Given the description of an element on the screen output the (x, y) to click on. 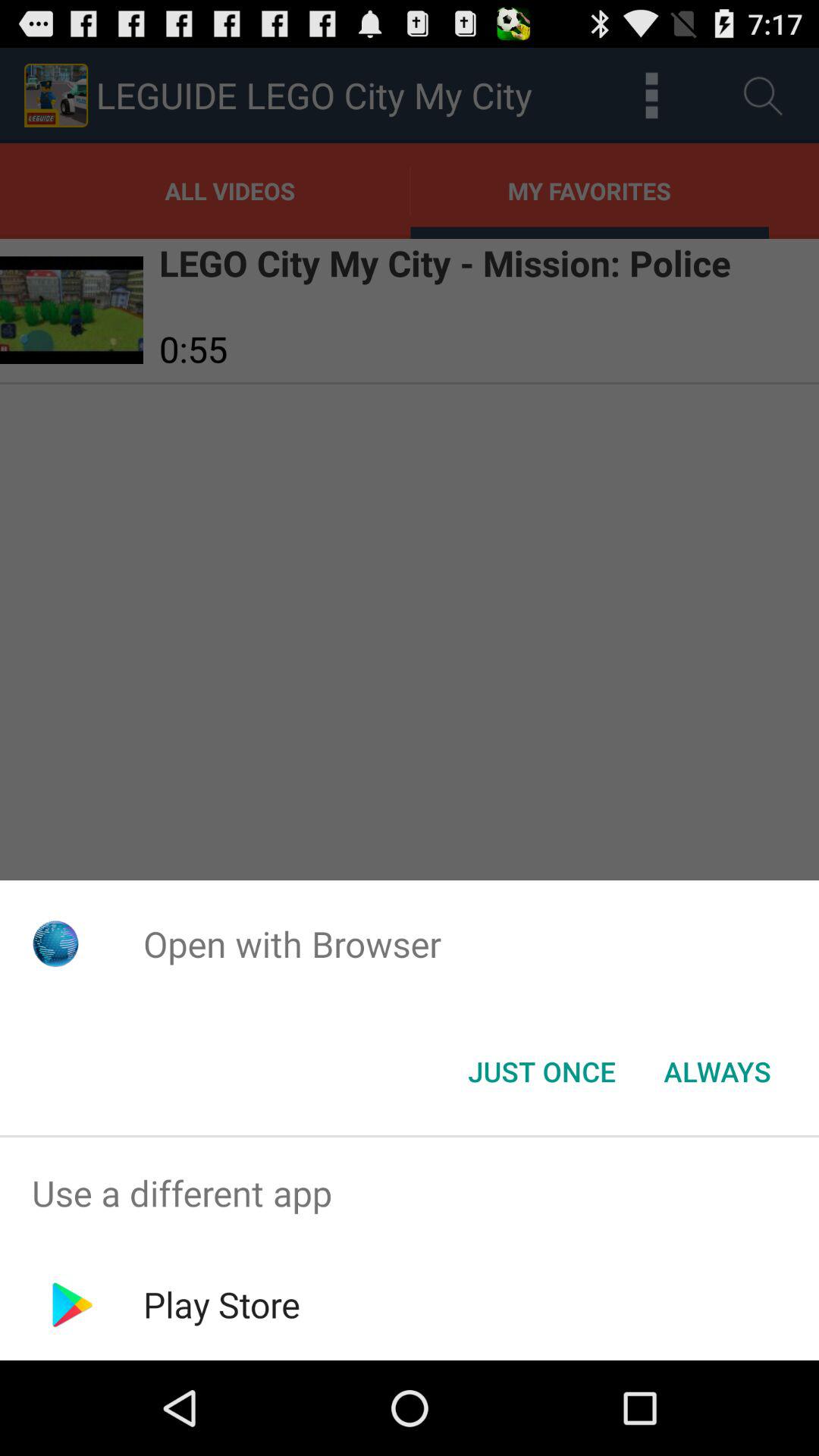
click always (717, 1071)
